Given the description of an element on the screen output the (x, y) to click on. 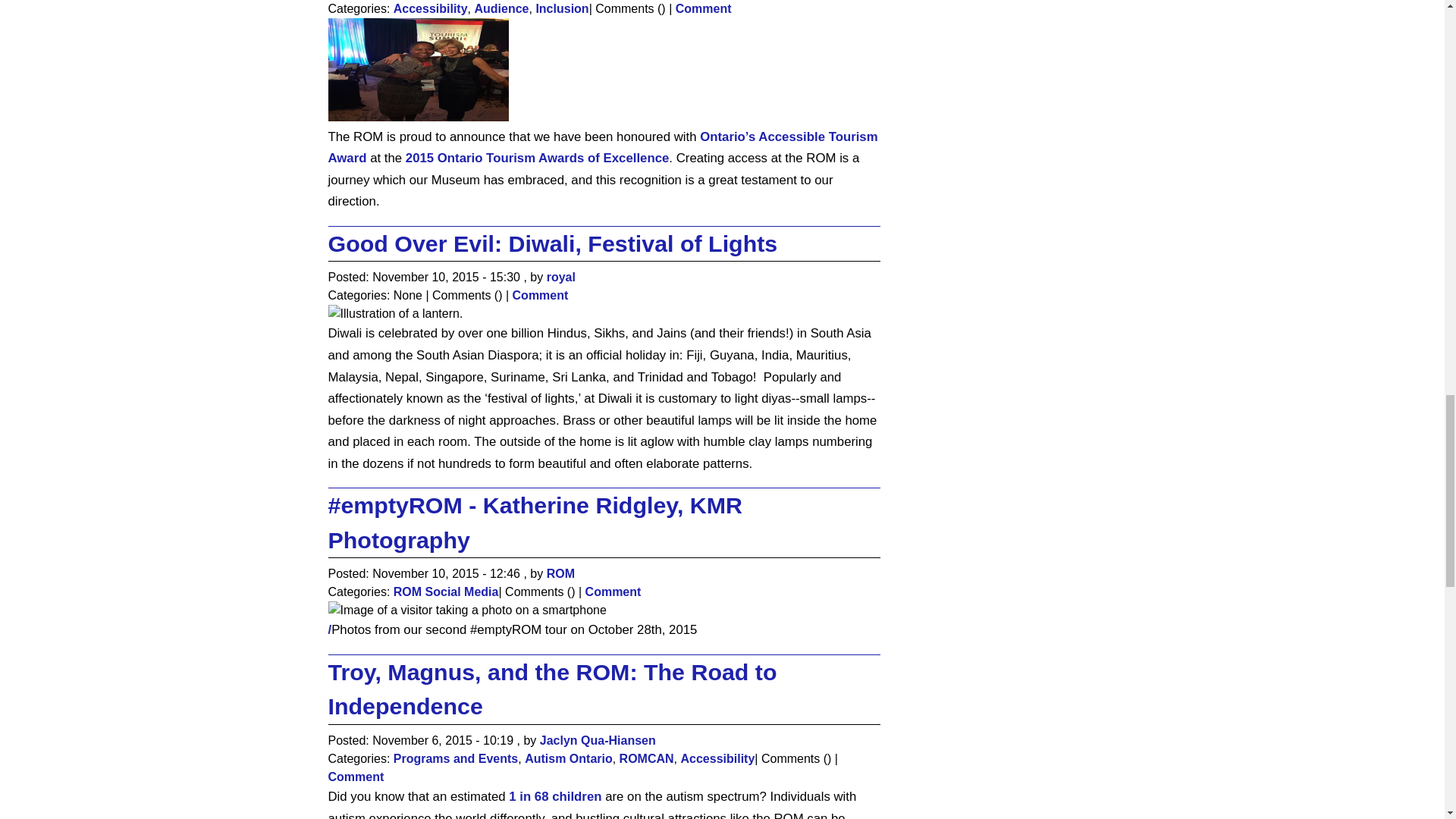
Diya, drawing on ipad. Source: Deepali Dewan, ROM. (395, 313)
Photo courtesy of KMR Photography. (466, 610)
